Given the description of an element on the screen output the (x, y) to click on. 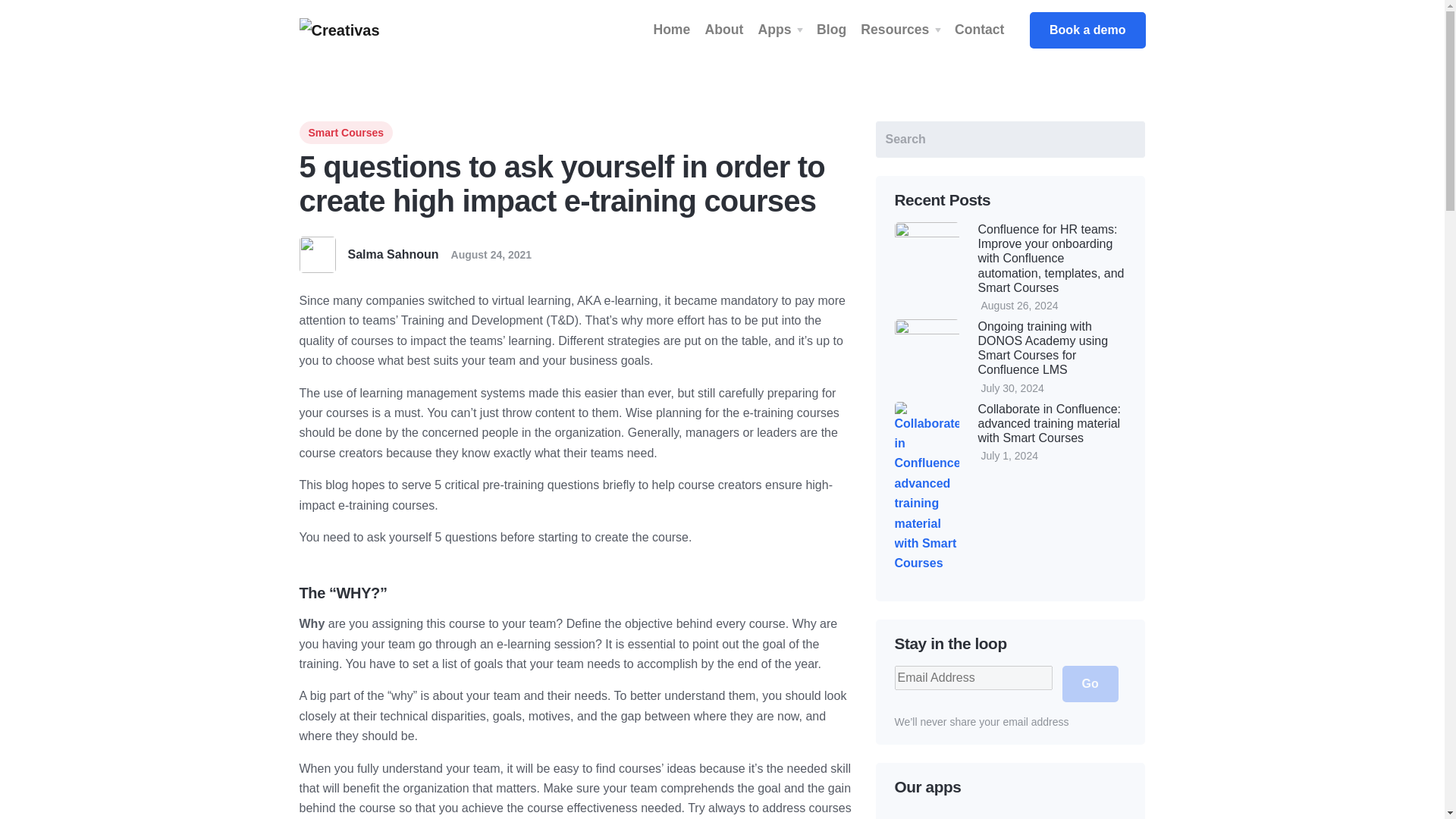
Resources (900, 29)
Book a demo (1086, 30)
Blog (831, 29)
Resources (900, 29)
About (724, 29)
Contact (979, 29)
Home (671, 29)
Apps (780, 29)
Go (1089, 683)
Blog (831, 29)
